Given the description of an element on the screen output the (x, y) to click on. 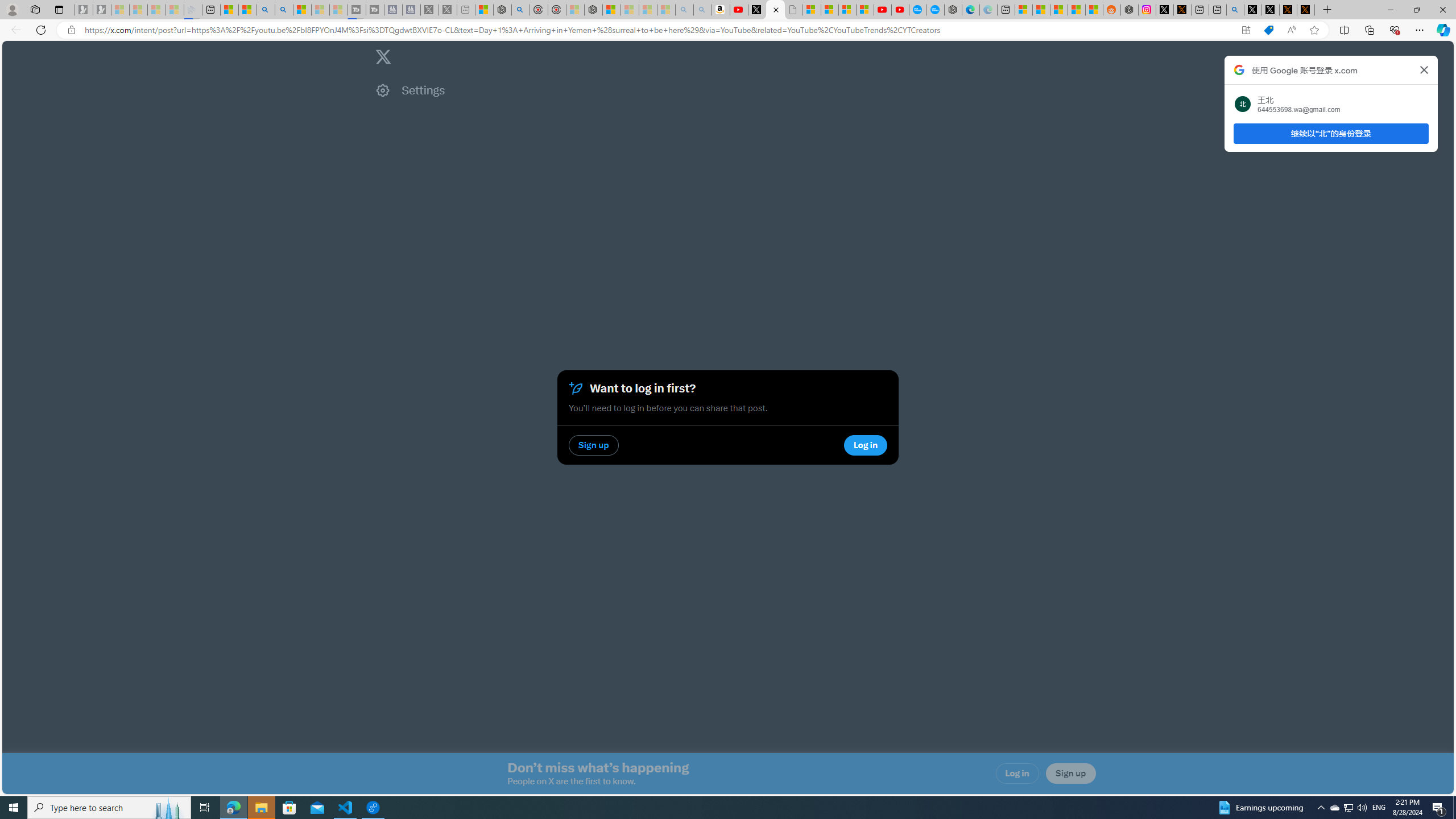
poe - Search (520, 9)
Nordace - Summer Adventures 2024 (1128, 9)
Microsoft Start - Sleeping (320, 9)
Workspaces (34, 9)
Newsletter Sign Up - Sleeping (102, 9)
Nordace - Nordace has arrived Hong Kong (952, 9)
Gloom - YouTube (882, 9)
View site information (70, 29)
Log in to X / X (1164, 9)
Shanghai, China hourly forecast | Microsoft Weather (1059, 9)
